Given the description of an element on the screen output the (x, y) to click on. 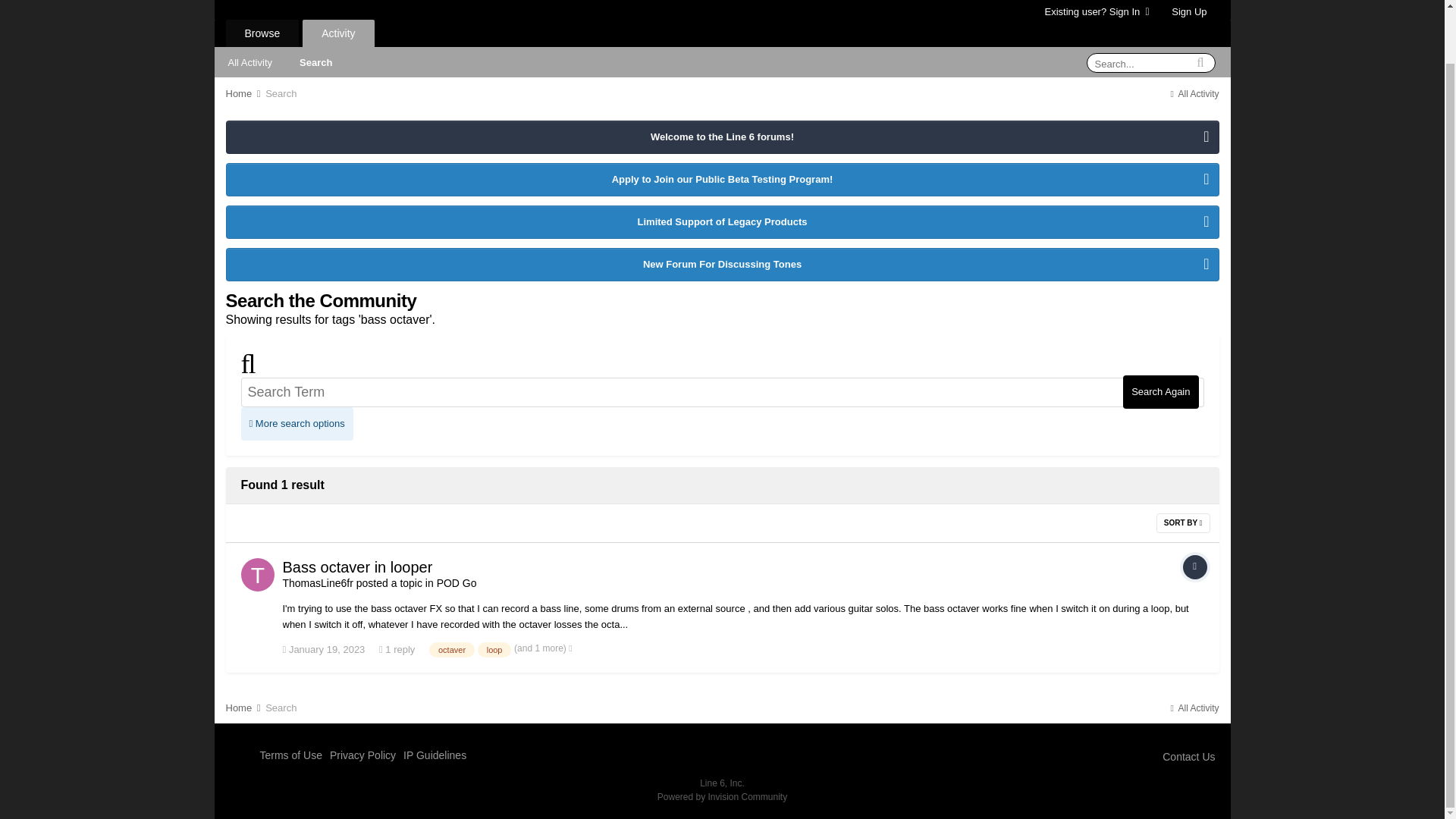
Home (244, 93)
Apply to Join our Public Beta Testing Program! (721, 179)
Find other content tagged with 'octaver' (451, 649)
Topic (1194, 567)
All Activity (249, 61)
Go to ThomasLine6fr's profile (317, 582)
Sign Up (1188, 11)
Home (244, 93)
Existing user? Sign In   (1097, 11)
Search Again (1160, 391)
